Given the description of an element on the screen output the (x, y) to click on. 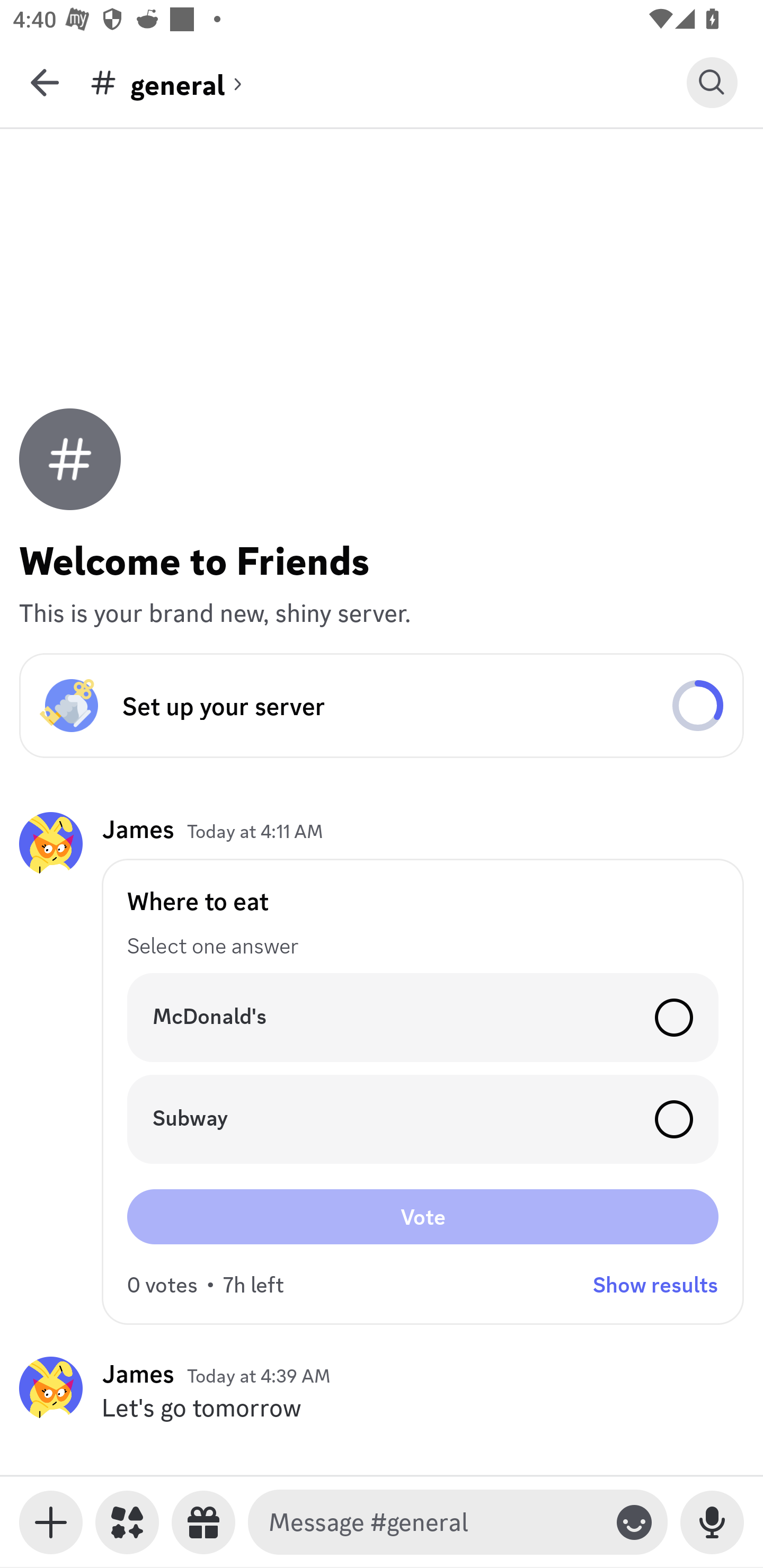
general (channel) general general (channel) (387, 82)
Back (44, 82)
Search (711, 82)
Set up your server (381, 705)
James (137, 829)
McDonald's (422, 1017)
Subway (422, 1118)
Vote (422, 1216)
0 votes  •  7h left (205, 1284)
Show results (655, 1284)
James (137, 1373)
Message #general Toggle emoji keyboard (457, 1522)
Toggle media keyboard (50, 1522)
Apps (126, 1522)
Send a gift (203, 1522)
Record Voice Message (711, 1522)
Toggle emoji keyboard (634, 1522)
